Given the description of an element on the screen output the (x, y) to click on. 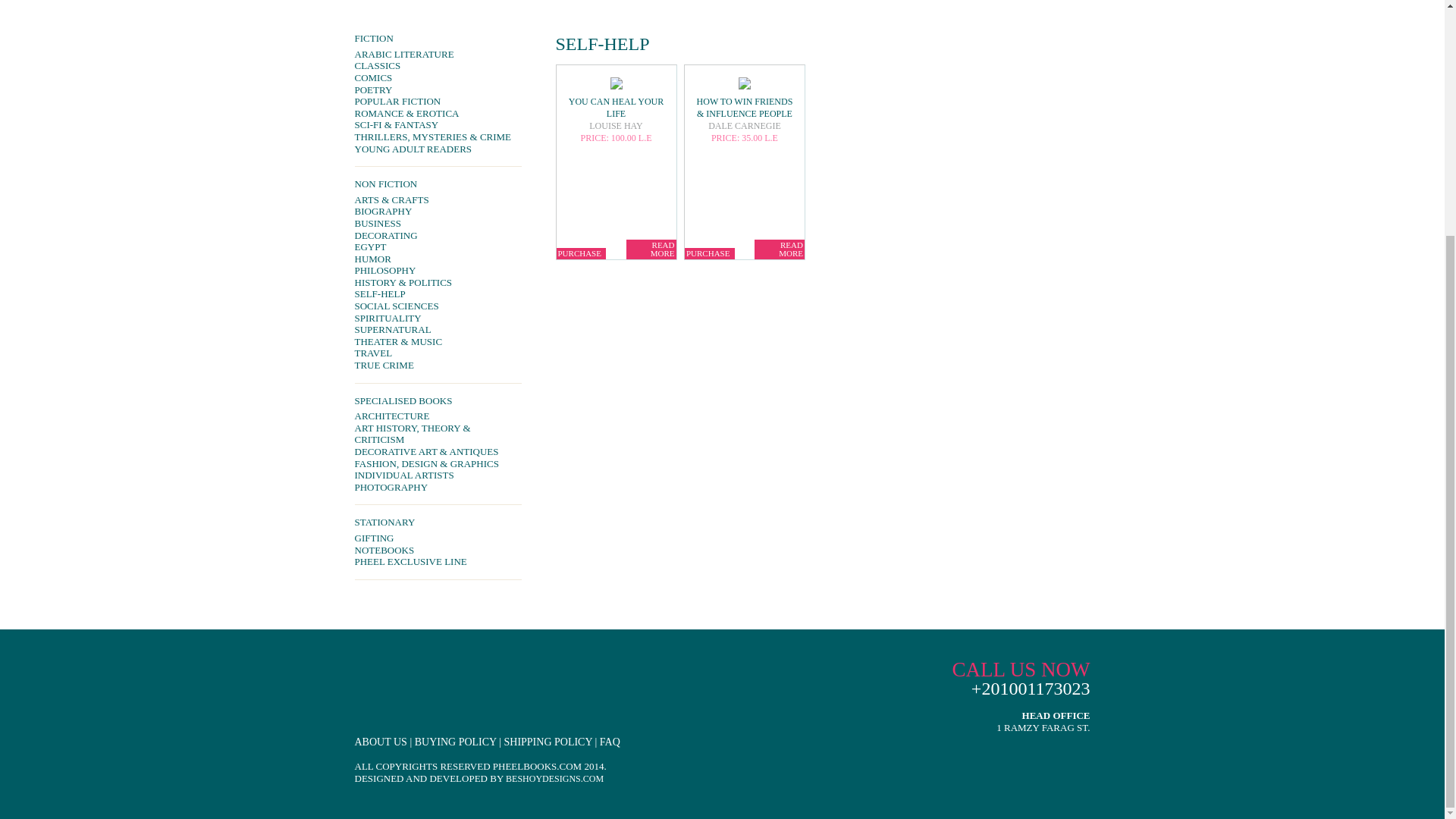
SOCIAL SCIENCES (438, 306)
ARABIC LITERATURE (438, 54)
POETRY (438, 90)
FICTION (438, 38)
SELF-HELP (438, 294)
CLASSICS (438, 65)
YOUNG ADULT READERS (438, 149)
SPIRITUALITY (438, 318)
BUSINESS (438, 223)
DECORATING (438, 235)
EGYPT (438, 246)
BIOGRAPHY (438, 211)
HUMOR (438, 259)
NON FICTION (438, 184)
SUPERNATURAL (438, 329)
